Given the description of an element on the screen output the (x, y) to click on. 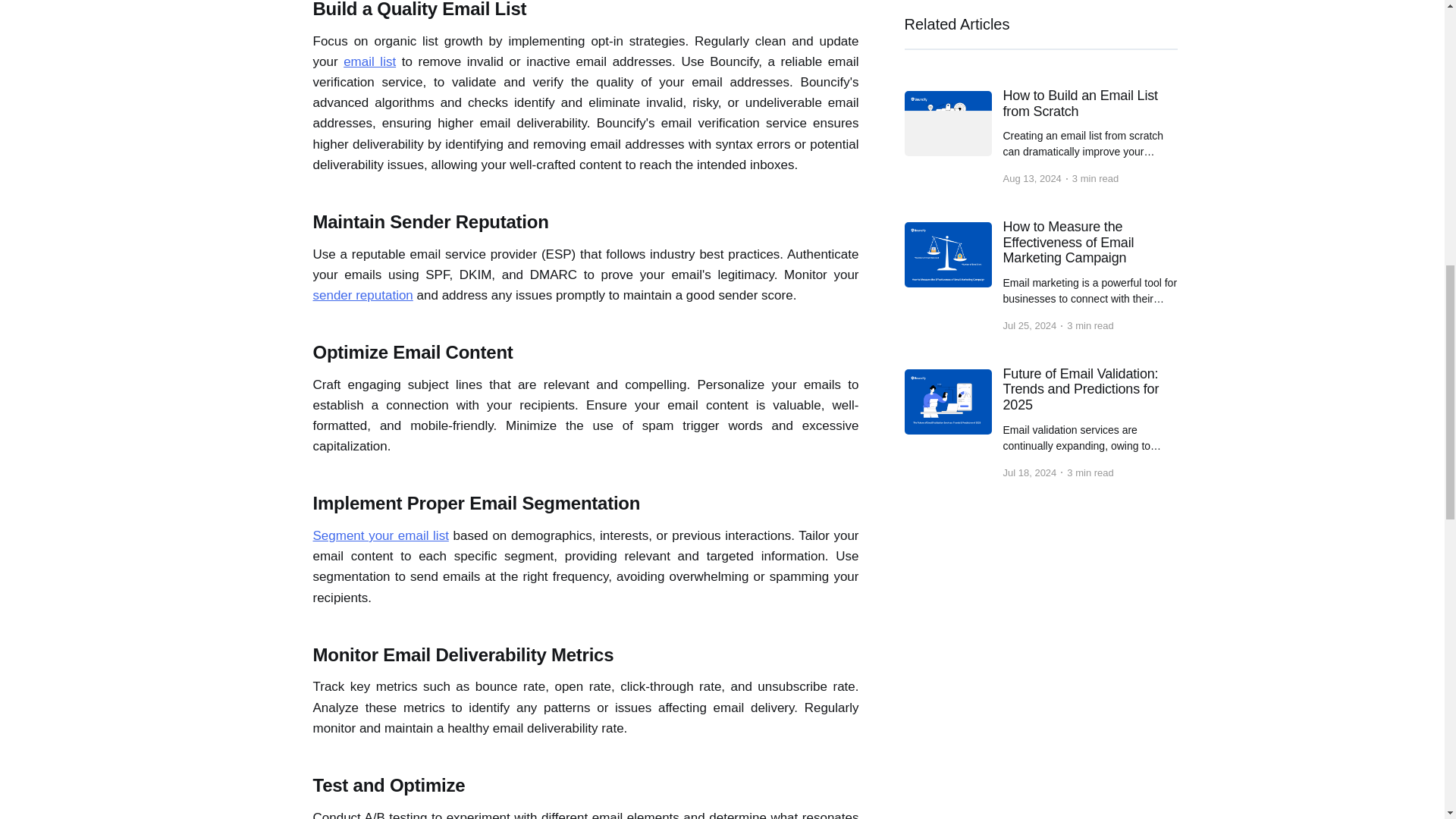
Segment your email list (380, 535)
email list (369, 61)
sender reputation (362, 295)
